Given the description of an element on the screen output the (x, y) to click on. 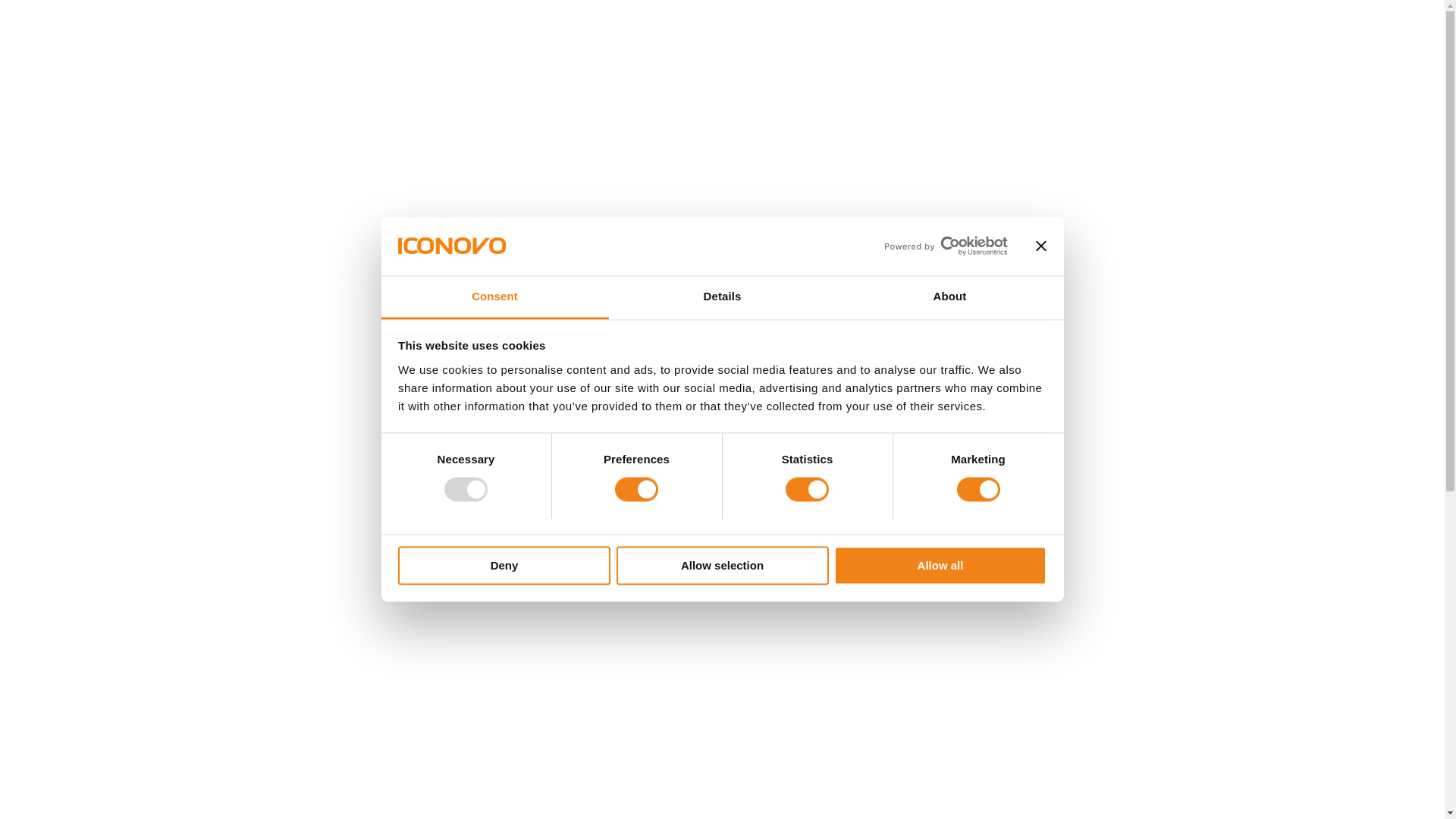
LinkedIn (1169, 56)
Details (721, 297)
About (948, 297)
Consent (494, 297)
